Given the description of an element on the screen output the (x, y) to click on. 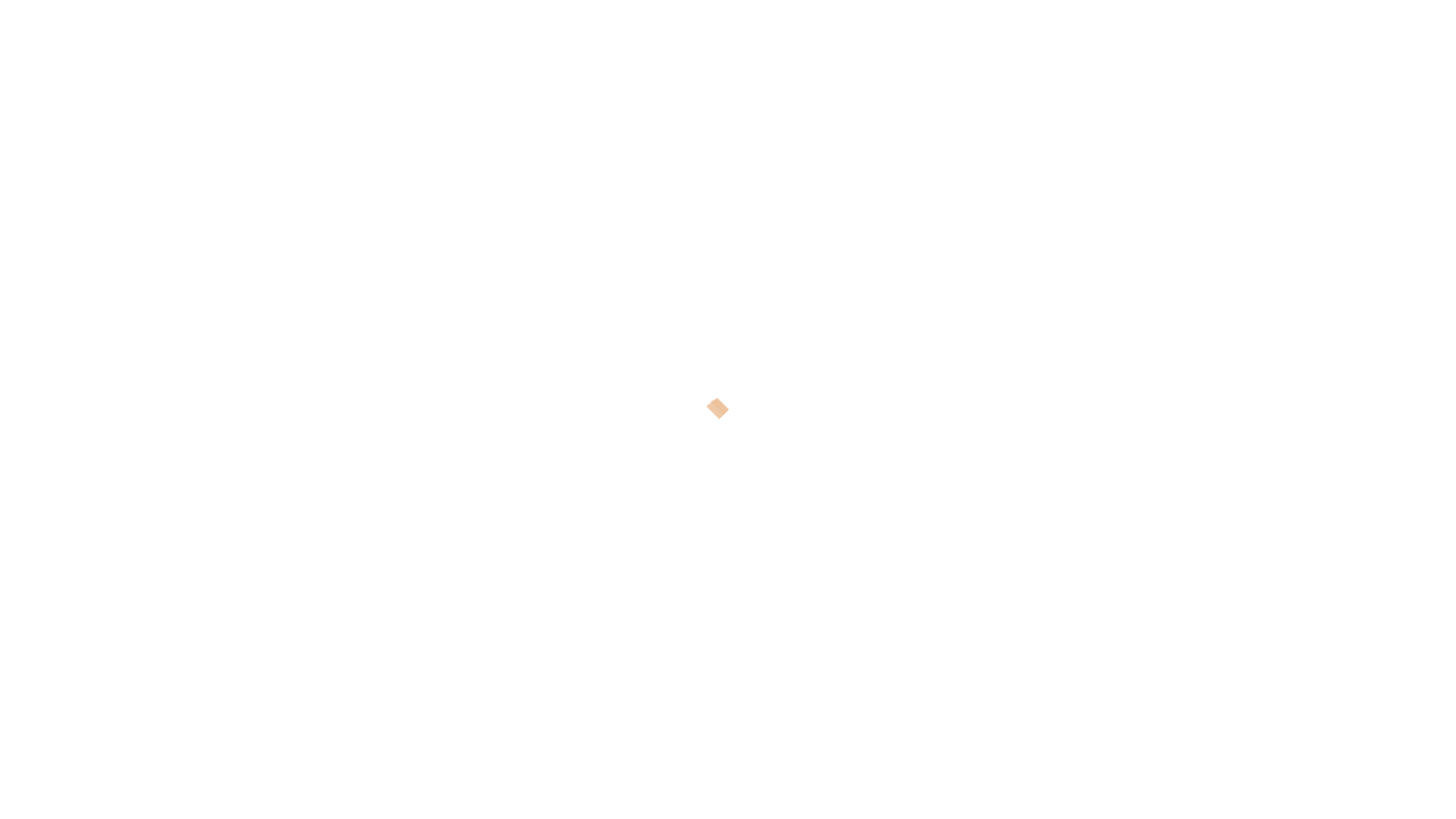
Cookie Policy Element type: text (1350, 785)
About Us Element type: text (1221, 46)
Gallery Element type: text (1147, 46)
The Voltage Element type: text (955, 46)
Contact Us Element type: text (1307, 46)
Accomodation Element type: text (757, 46)
Conferences Element type: text (860, 46)
Other Facilities Element type: text (1057, 46)
Home Element type: text (671, 46)
